Given the description of an element on the screen output the (x, y) to click on. 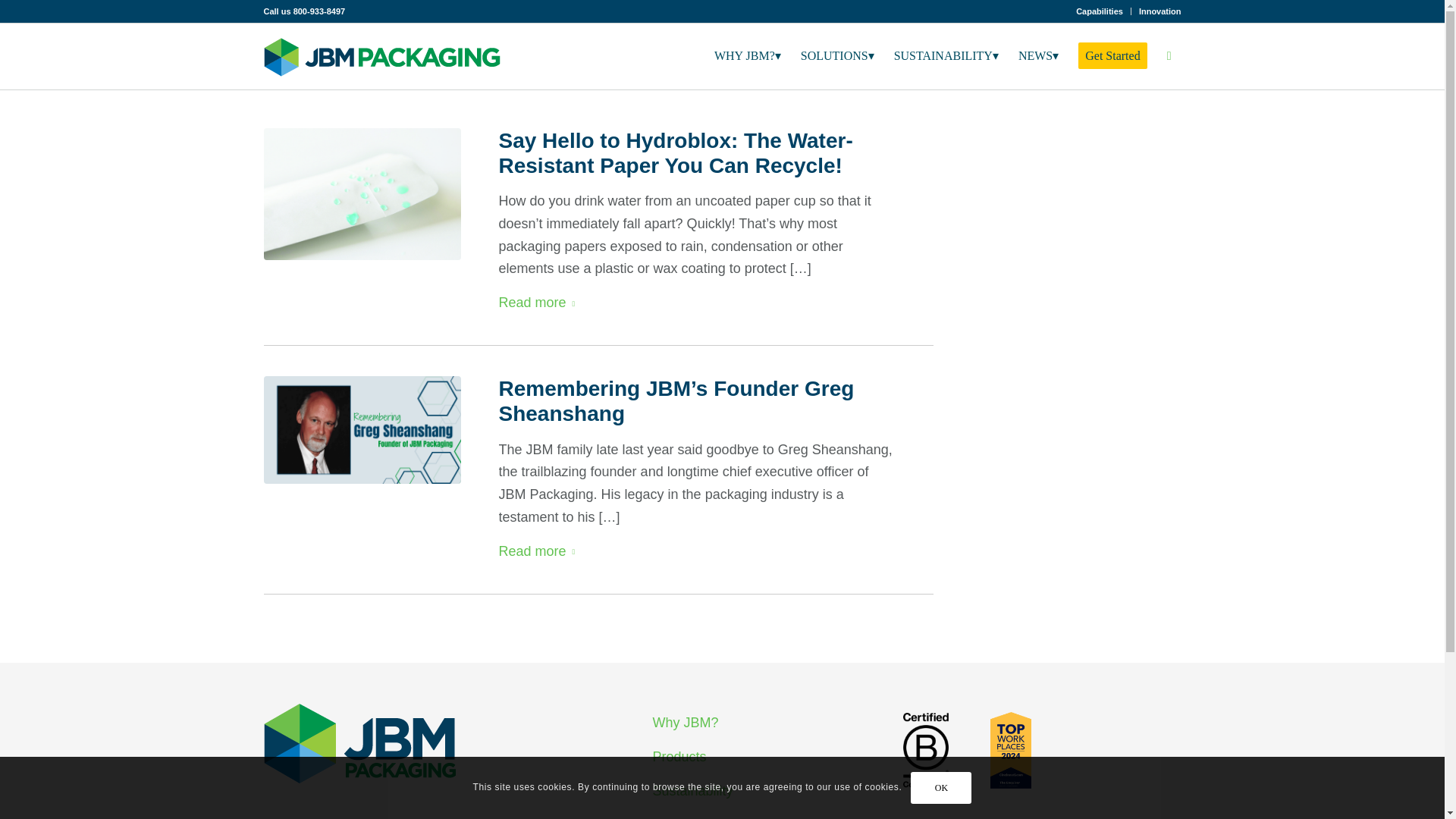
Innovation (1159, 11)
Remembering Greg Sheanshang (362, 429)
SOLUTIONS (836, 55)
Capabilities (1098, 11)
800-933-8497 (320, 10)
WHY JBM? (747, 55)
